Given the description of an element on the screen output the (x, y) to click on. 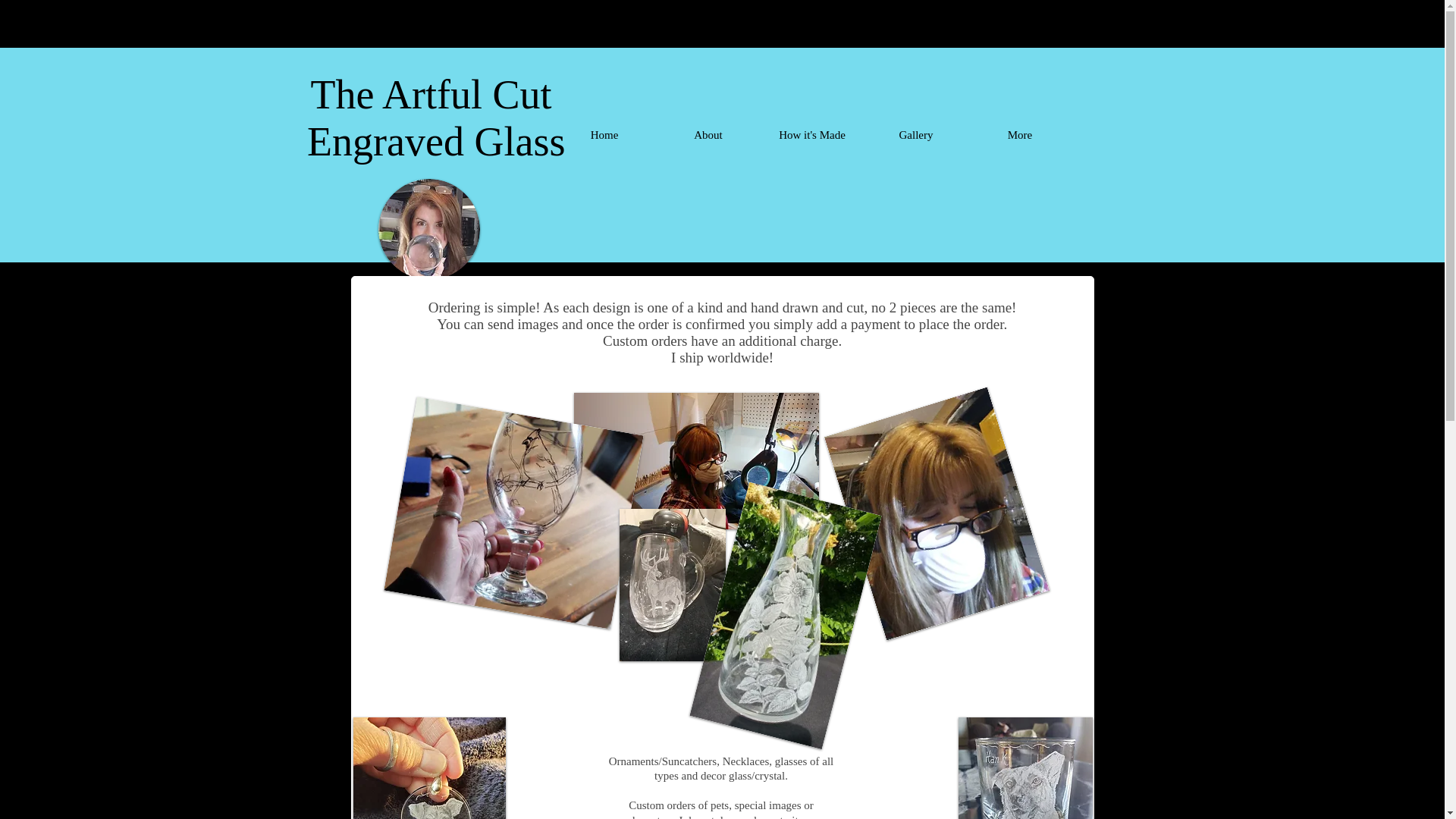
The Artful Cut (431, 94)
About (708, 128)
Home (603, 128)
How it's Made (811, 128)
Gallery (916, 128)
 Engraved Glass (431, 141)
